Given the description of an element on the screen output the (x, y) to click on. 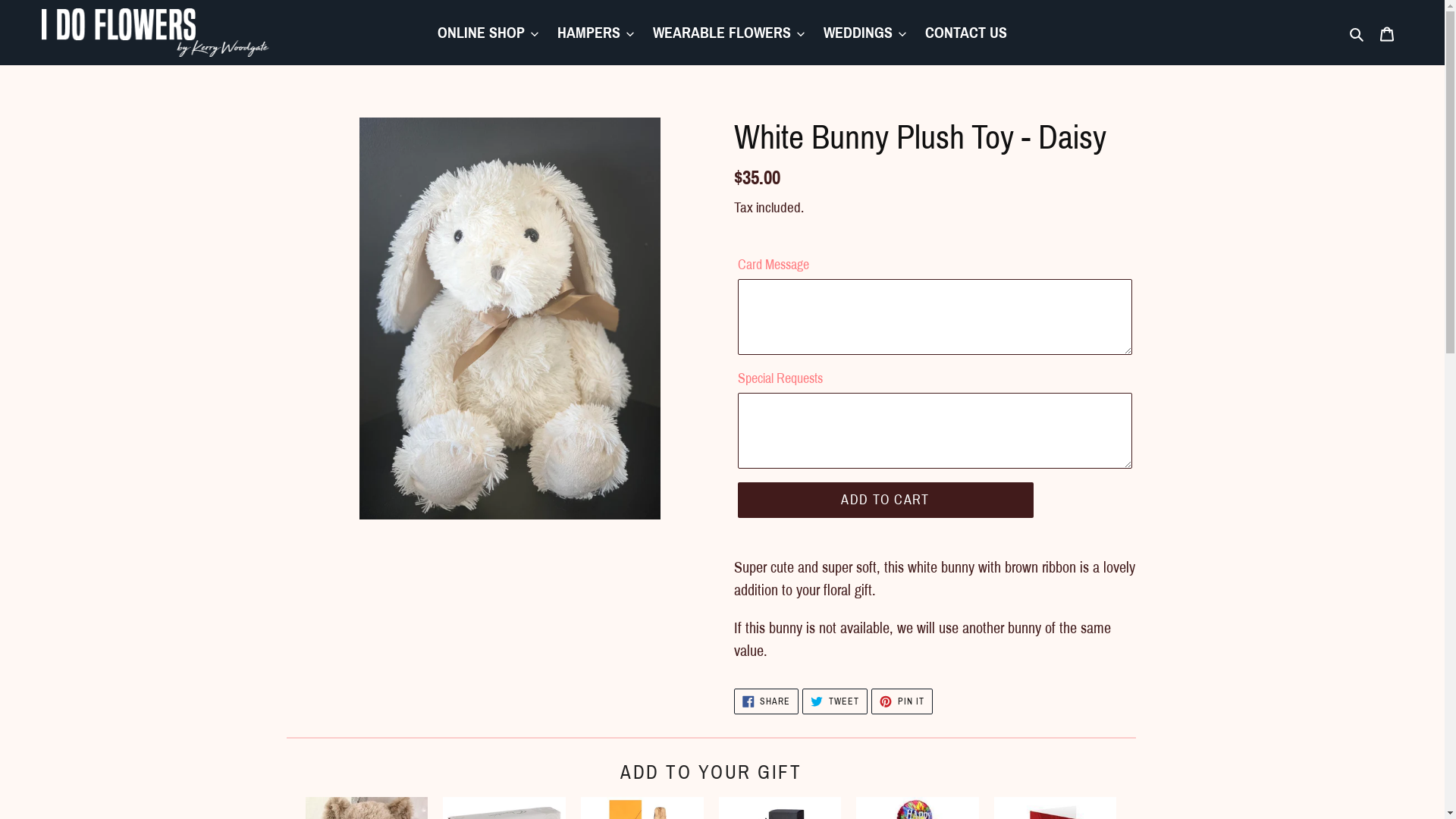
WEDDINGS Element type: text (864, 32)
CONTACT US Element type: text (965, 32)
ADD TO CART Element type: text (884, 499)
Cart Element type: text (1386, 32)
Search Element type: text (1357, 32)
TWEET
TWEET ON TWITTER Element type: text (834, 701)
WEARABLE FLOWERS Element type: text (728, 32)
HAMPERS Element type: text (595, 32)
SHARE
SHARE ON FACEBOOK Element type: text (766, 701)
PIN IT
PIN ON PINTEREST Element type: text (901, 701)
ONLINE SHOP Element type: text (487, 32)
